Given the description of an element on the screen output the (x, y) to click on. 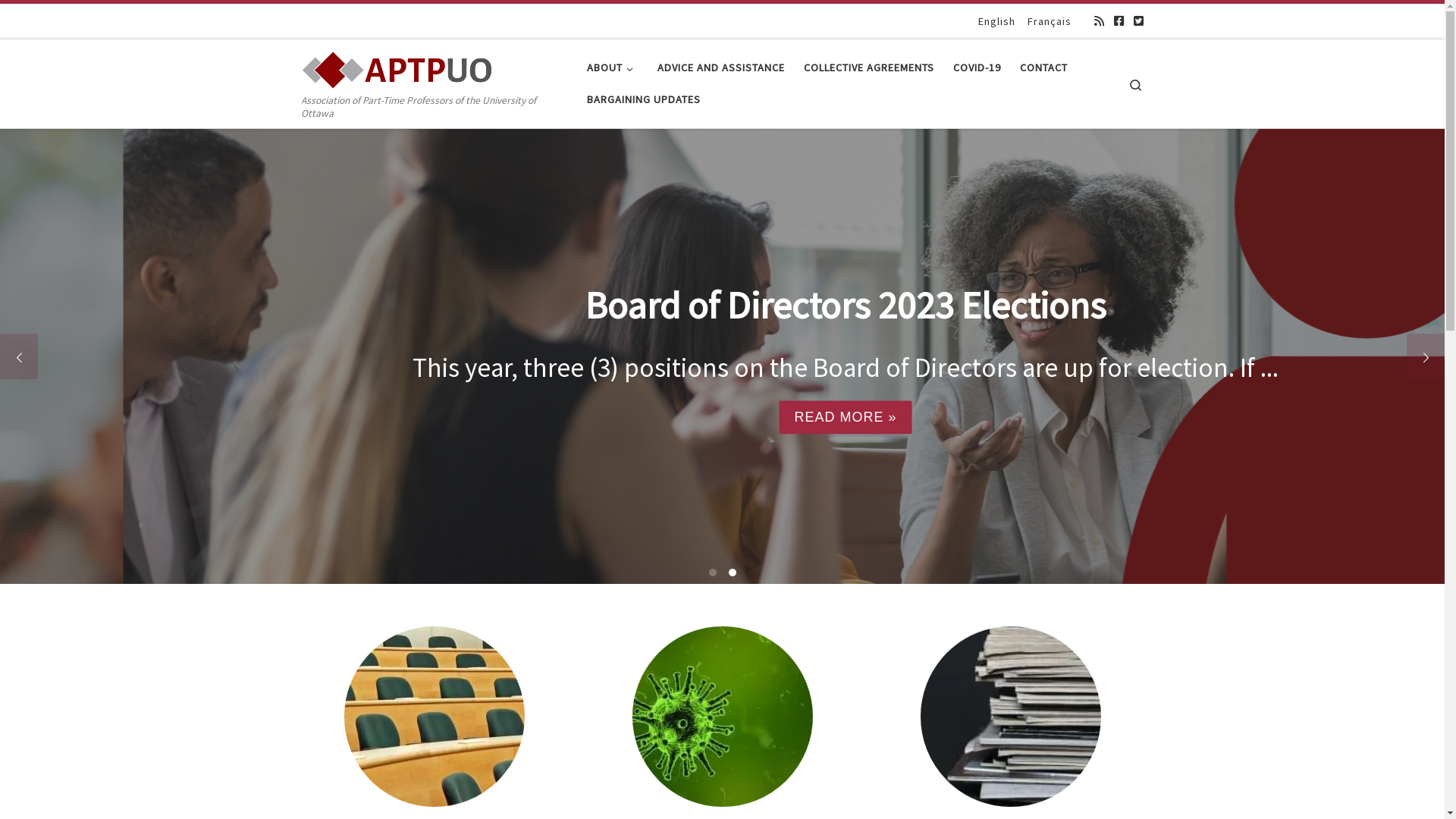
COLLECTIVE AGREEMENTS Element type: text (869, 67)
BARGAINING UPDATES Element type: text (643, 99)
Search Element type: text (1135, 83)
Subscribe to my rss feed Element type: hover (1098, 20)
Follow us on Facebook-square Element type: hover (1118, 20)
ADVICE AND ASSISTANCE Element type: text (721, 67)
Skip to content Element type: text (57, 21)
COVID-19 Element type: text (977, 67)
ABOUT Element type: text (612, 67)
Follow us on Twitter-square Element type: hover (1137, 20)
English Element type: text (996, 20)
CONTACT Element type: text (1044, 67)
